Given the description of an element on the screen output the (x, y) to click on. 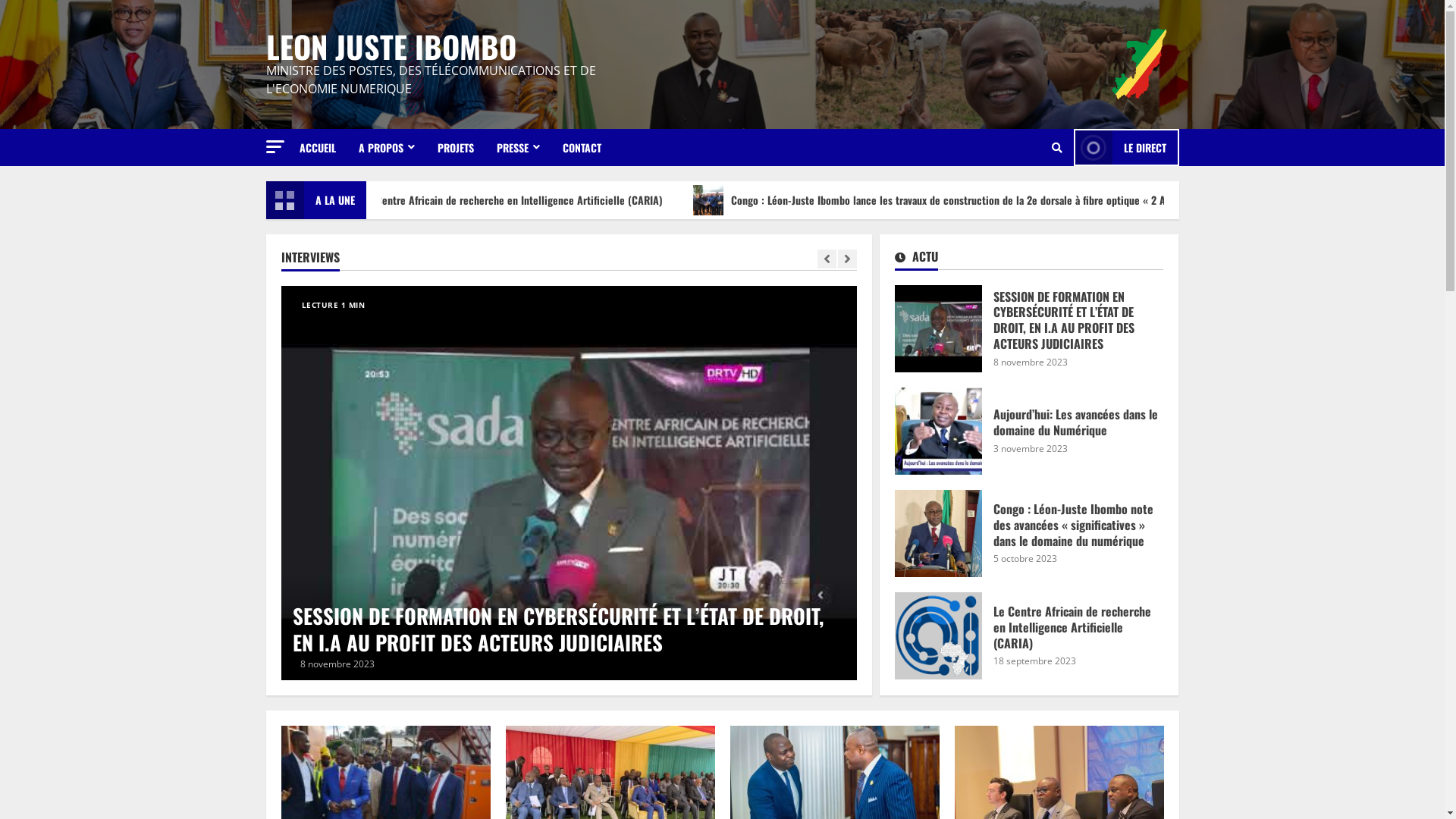
LEON JUSTE IBOMBO Element type: text (390, 46)
Search Element type: hover (1056, 147)
PROJETS Element type: text (455, 147)
ACCUEIL Element type: text (322, 147)
ACTU Element type: text (916, 259)
Rechercher Element type: text (1022, 199)
CONTACT Element type: text (575, 147)
LE DIRECT Element type: text (1126, 147)
PRESSE Element type: text (518, 147)
A PROPOS Element type: text (386, 147)
